Given the description of an element on the screen output the (x, y) to click on. 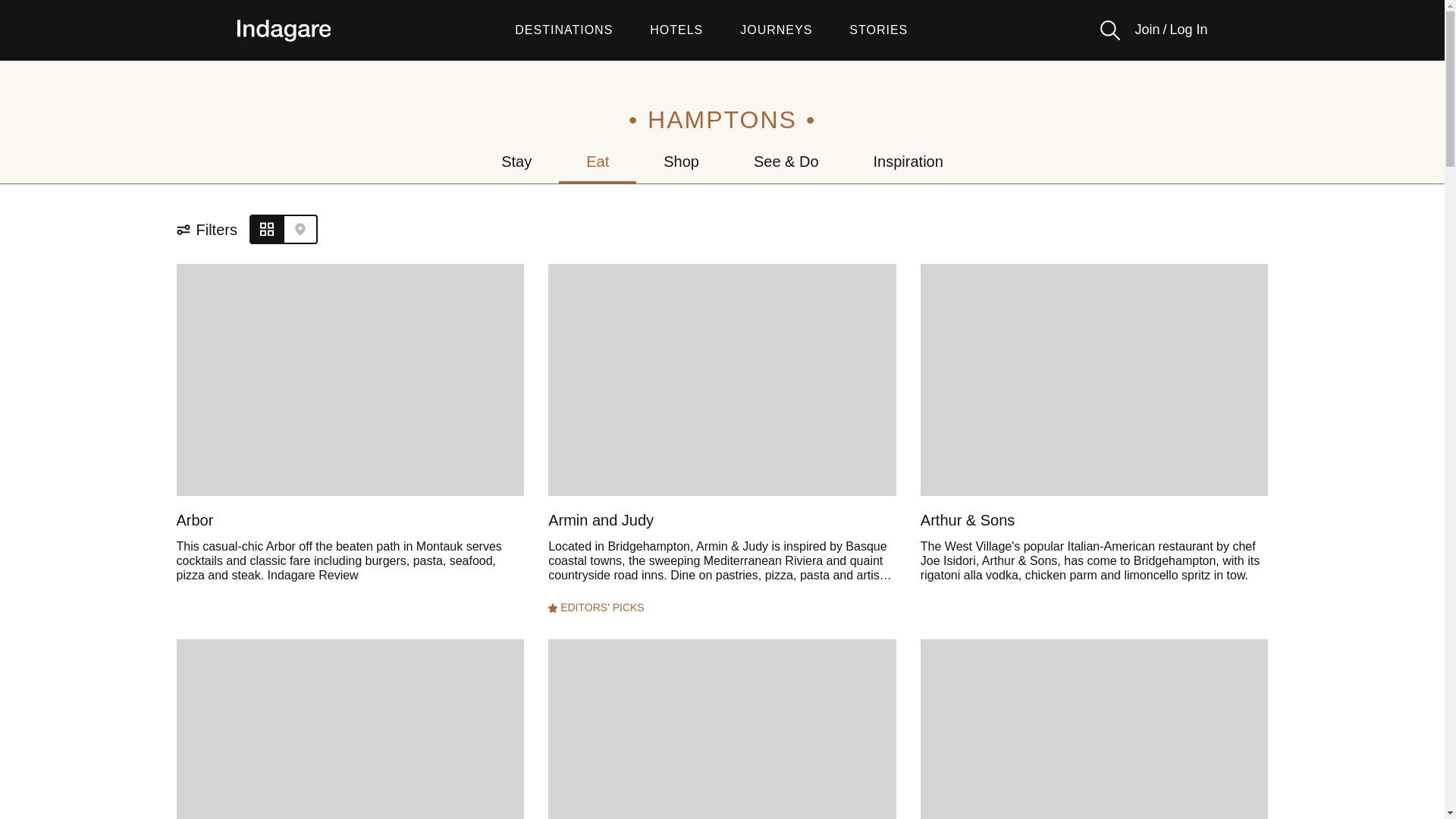
HAMPTONS (721, 119)
Filters (212, 229)
Stay (516, 161)
Join (1146, 29)
Inspiration (908, 161)
Eat (597, 161)
Log In (1188, 29)
Shop (681, 161)
DESTINATIONS (563, 30)
STORIES (877, 30)
